Given the description of an element on the screen output the (x, y) to click on. 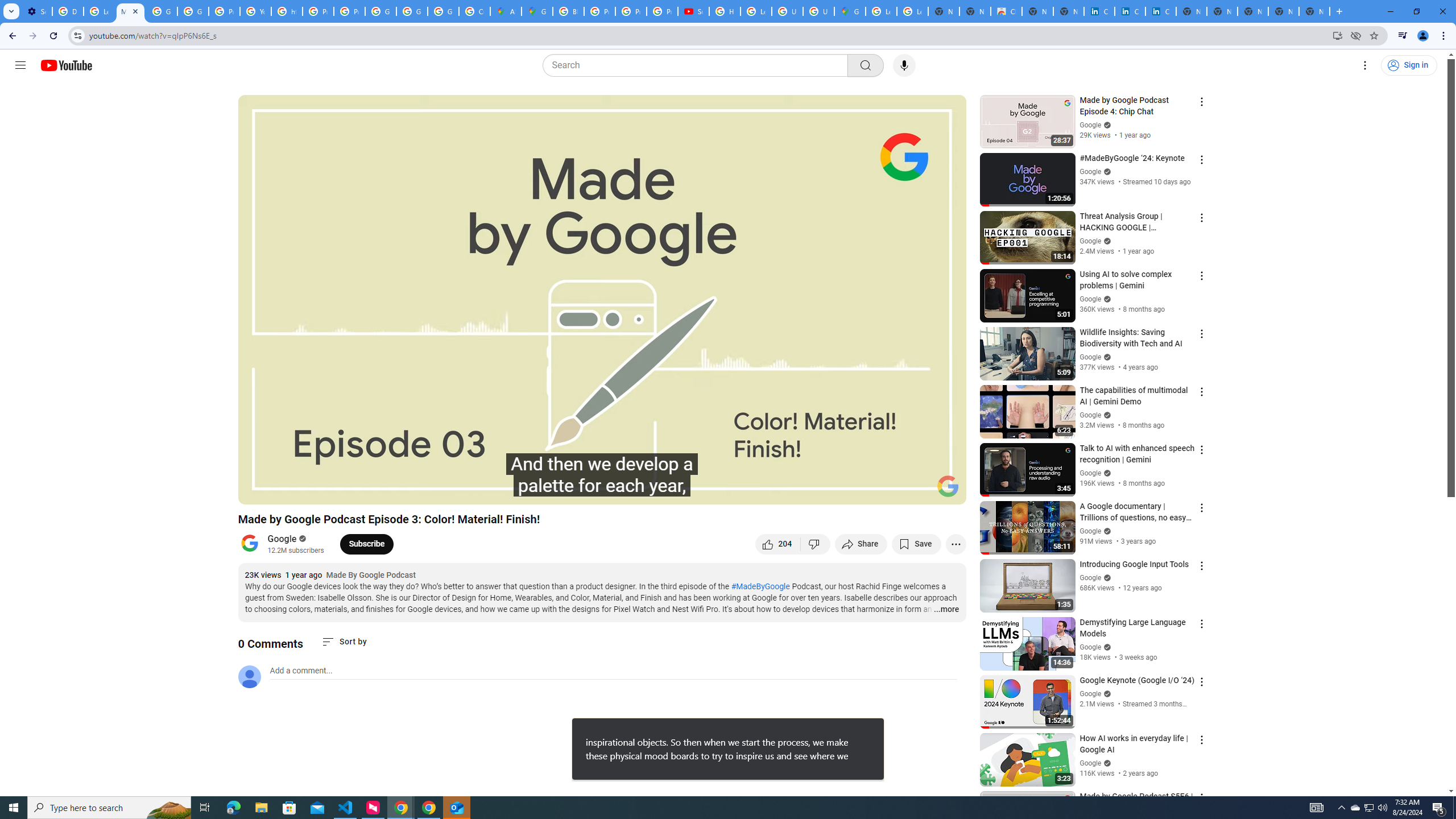
Subtitles/closed captions unavailable (836, 490)
Privacy Help Center - Policies Help (631, 11)
New Tab (1314, 11)
Guide (20, 65)
AutomationID: simplebox-placeholder (301, 670)
Full screen (f) (945, 490)
Pause (k) (257, 490)
